Given the description of an element on the screen output the (x, y) to click on. 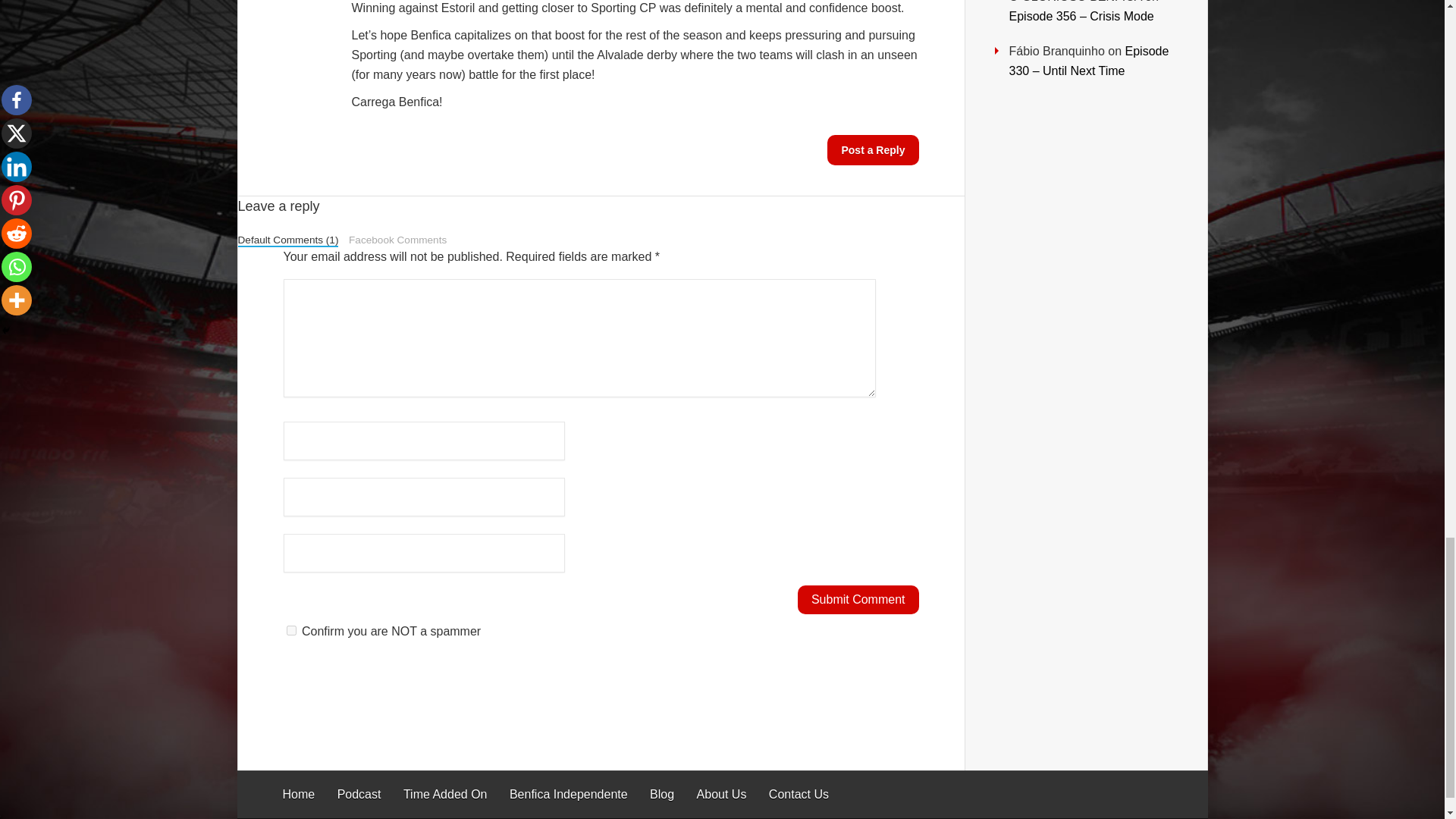
on (291, 630)
Submit Comment (857, 599)
